Given the description of an element on the screen output the (x, y) to click on. 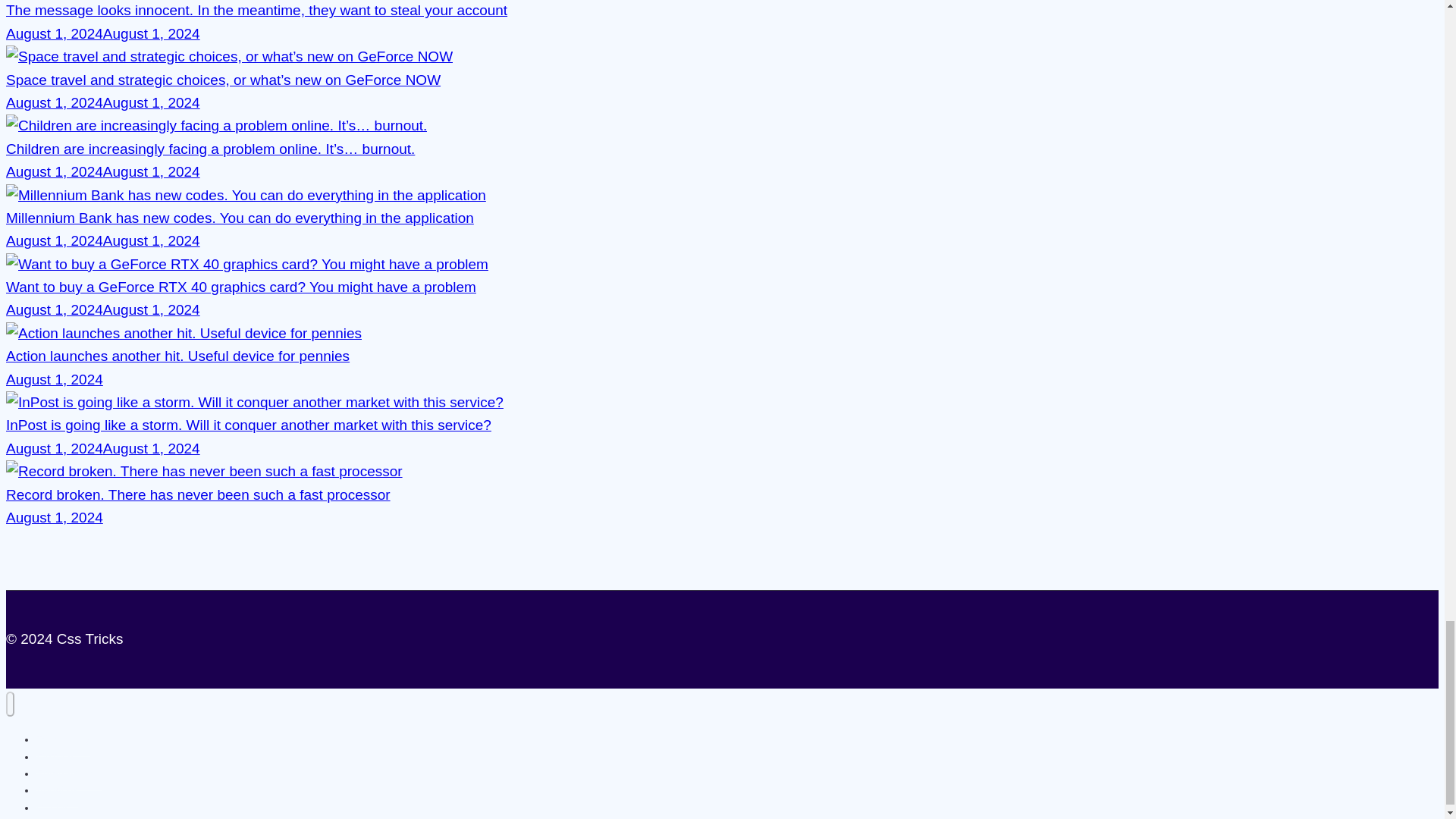
2:26 pm (102, 240)
Action launches another hit. Useful device for pennies (183, 333)
August 1, 2024August 1, 2024 (102, 240)
August 1, 2024August 1, 2024 (102, 171)
Action launches another hit. Useful device for pennies (177, 355)
9:25 am (54, 379)
6:24 pm (102, 33)
August 1, 2024August 1, 2024 (102, 309)
August 1, 2024August 1, 2024 (102, 102)
August 1, 2024August 1, 2024 (102, 33)
